Given the description of an element on the screen output the (x, y) to click on. 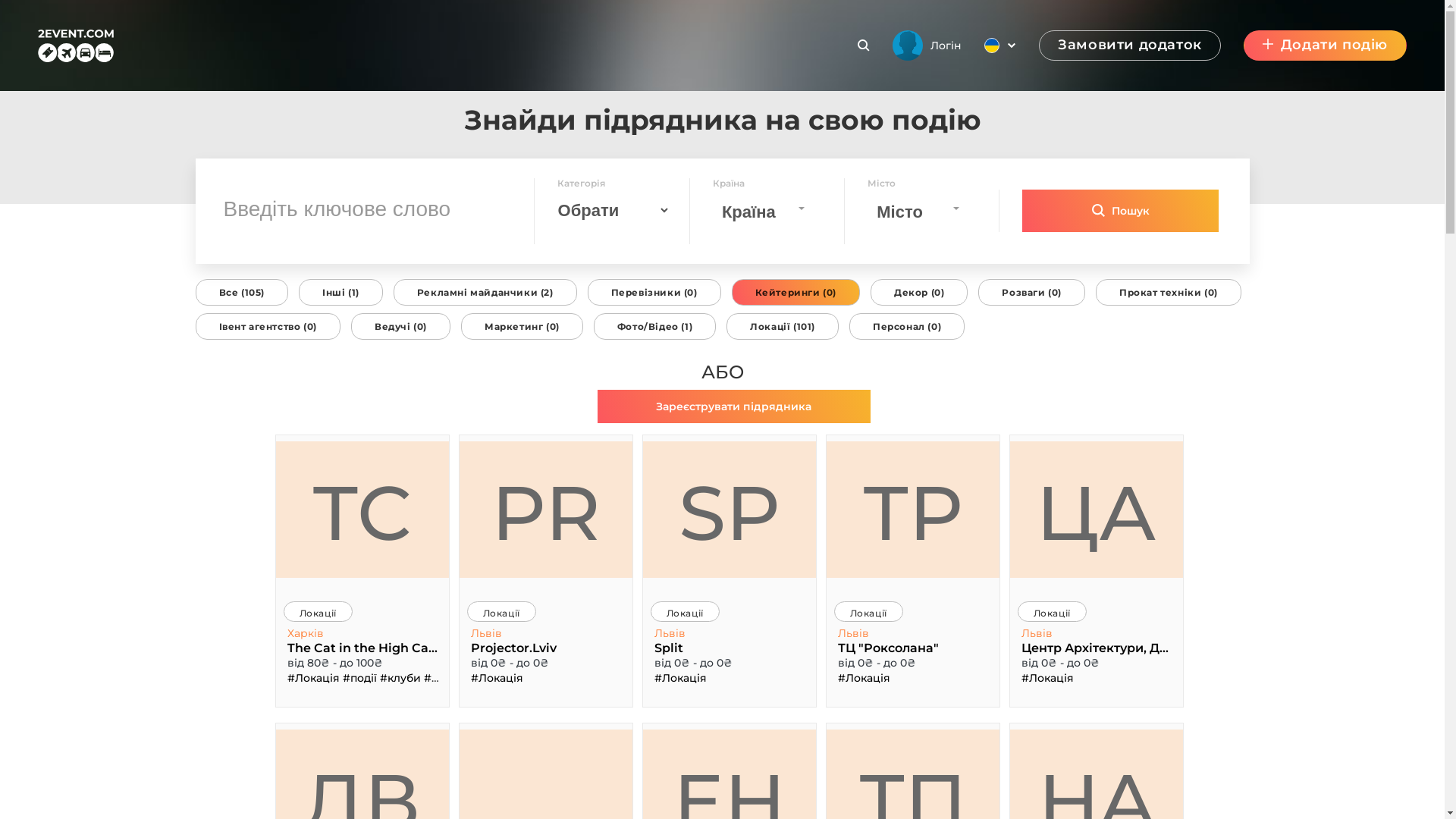
PR Element type: text (545, 509)
TC Element type: text (362, 509)
SP Element type: text (729, 509)
Split Element type: text (729, 647)
The Cat in the High Castle Element type: text (362, 647)
Projector.Lviv Element type: text (545, 647)
